Given the description of an element on the screen output the (x, y) to click on. 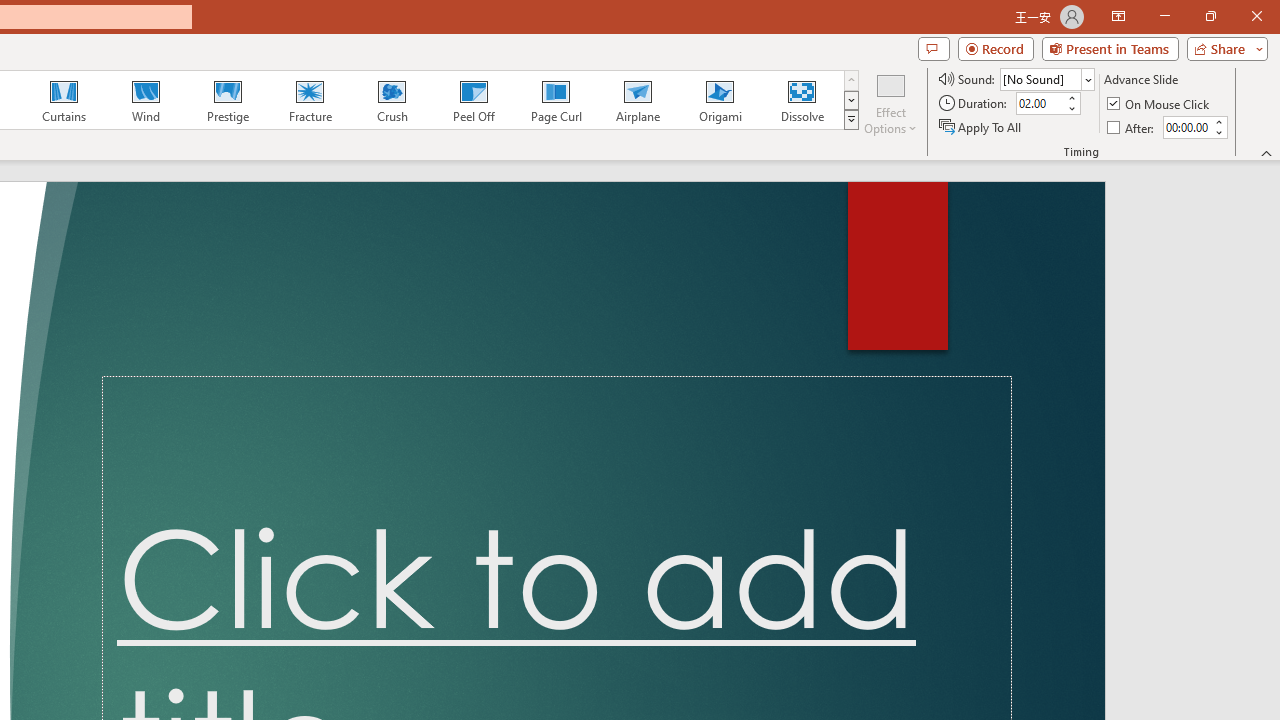
Duration (1039, 103)
